Given the description of an element on the screen output the (x, y) to click on. 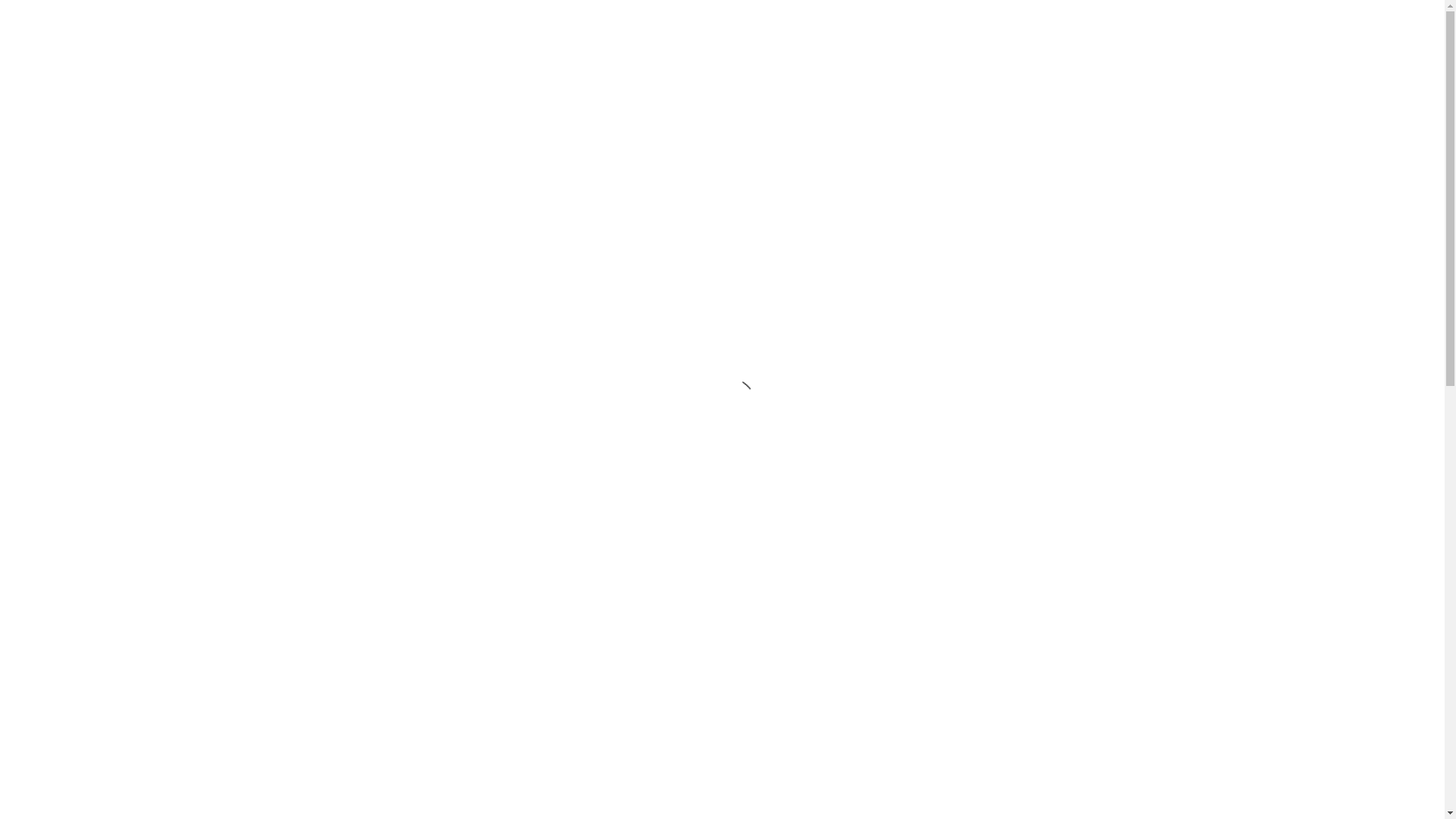
CONTACT Element type: text (1132, 26)
ABOUT Element type: text (780, 26)
SERVICES Element type: text (867, 26)
Services Element type: text (1030, 331)
HOME Element type: text (718, 26)
BLOG Element type: text (1063, 26)
Blog Element type: text (1030, 291)
TESTIMONIALS Element type: text (973, 26)
